Given the description of an element on the screen output the (x, y) to click on. 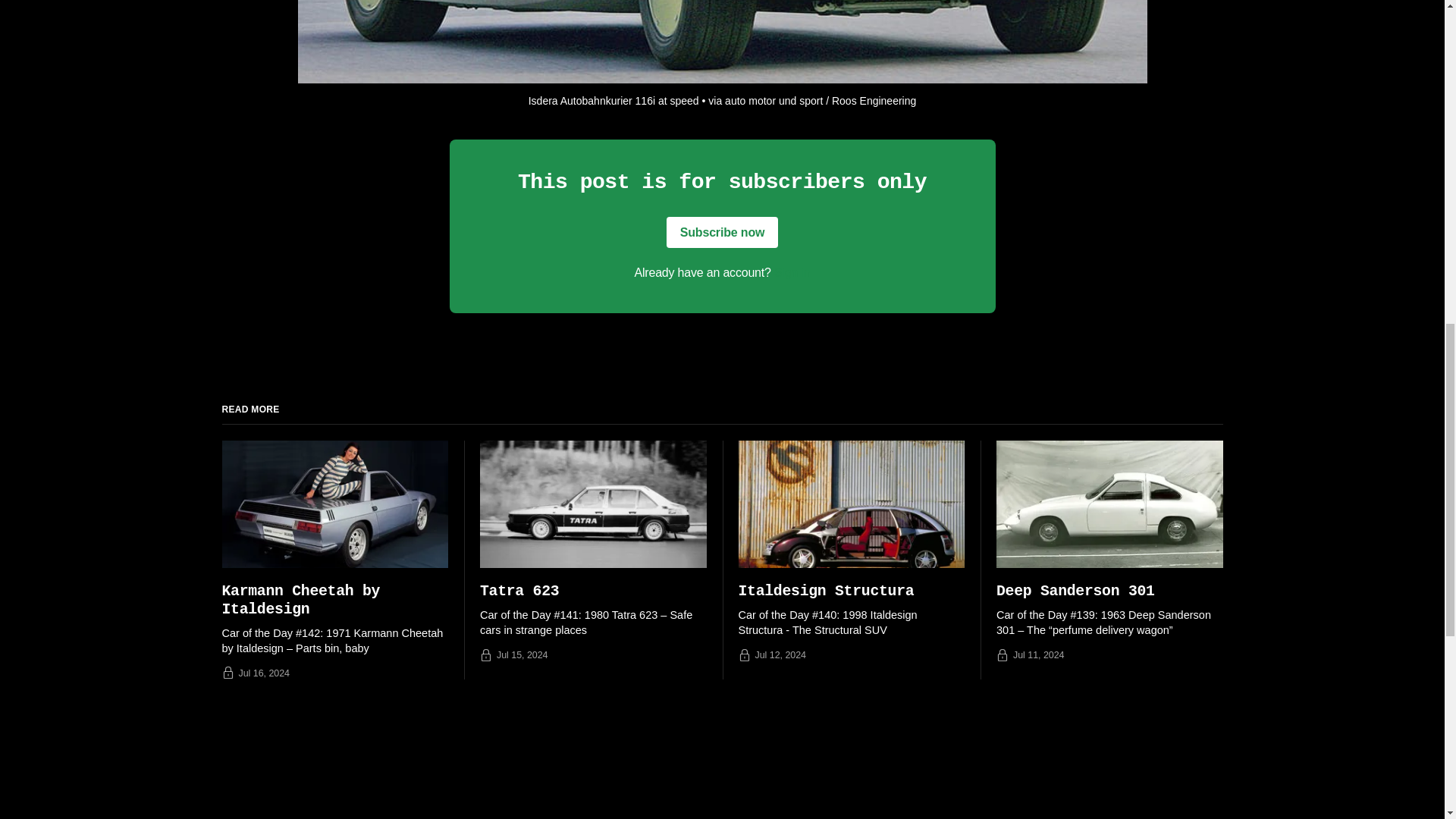
Sign in (792, 272)
Subscribe now (722, 232)
